Given the description of an element on the screen output the (x, y) to click on. 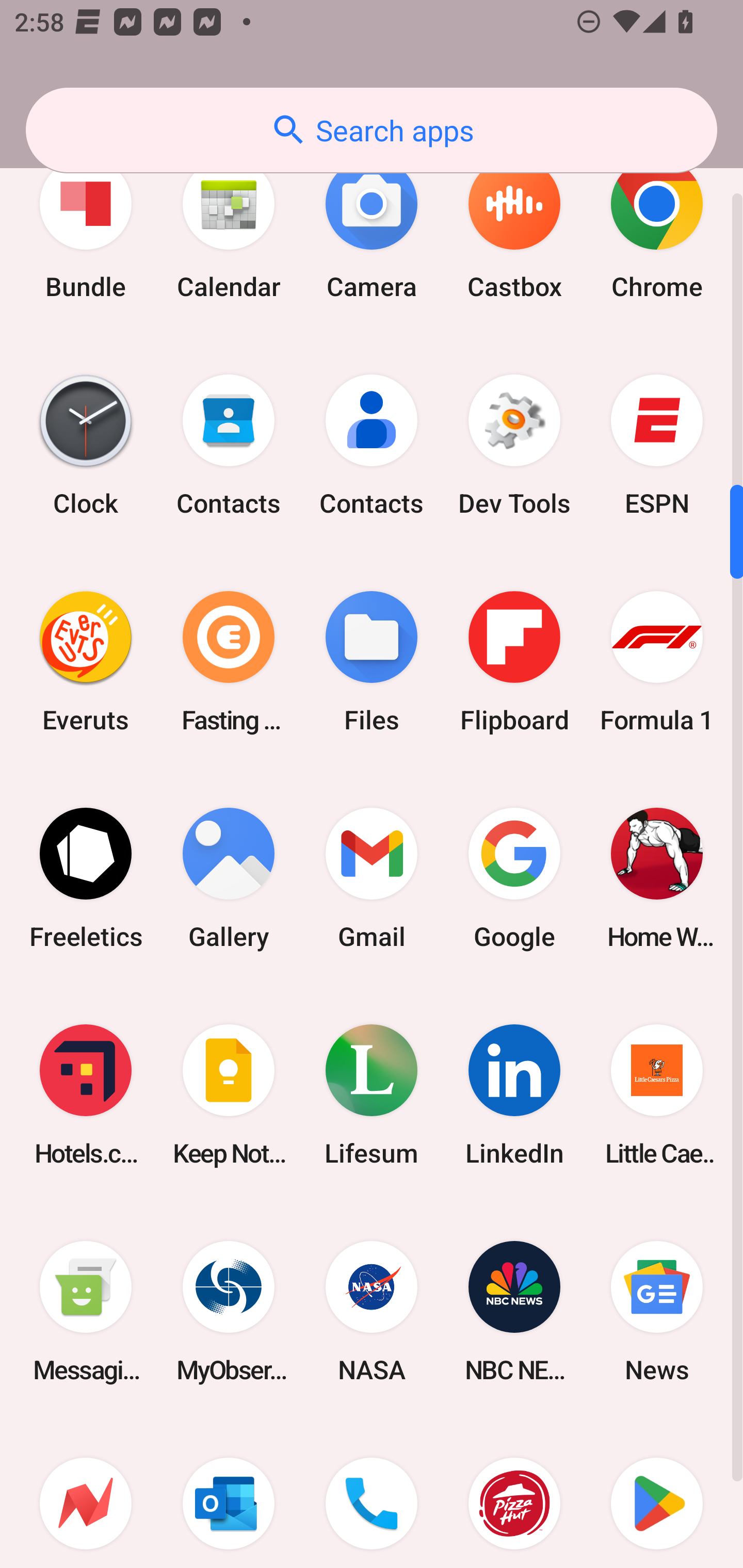
  Search apps (371, 130)
Bundle (85, 228)
Calendar (228, 228)
Camera (371, 228)
Castbox (514, 228)
Chrome (656, 228)
Clock (85, 445)
Contacts (228, 445)
Contacts (371, 445)
Dev Tools (514, 445)
ESPN (656, 445)
Everuts (85, 661)
Fasting Coach (228, 661)
Files (371, 661)
Flipboard (514, 661)
Formula 1 (656, 661)
Freeletics (85, 877)
Gallery (228, 877)
Gmail (371, 877)
Google (514, 877)
Home Workout (656, 877)
Hotels.com (85, 1094)
Keep Notes (228, 1094)
Lifesum (371, 1094)
LinkedIn (514, 1094)
Little Caesars Pizza (656, 1094)
Messaging (85, 1311)
MyObservatory (228, 1311)
NASA (371, 1311)
NBC NEWS (514, 1311)
News (656, 1311)
NewsBreak (85, 1494)
Outlook (228, 1494)
Phone (371, 1494)
Pizza Hut HK & Macau (514, 1494)
Play Store (656, 1494)
